Given the description of an element on the screen output the (x, y) to click on. 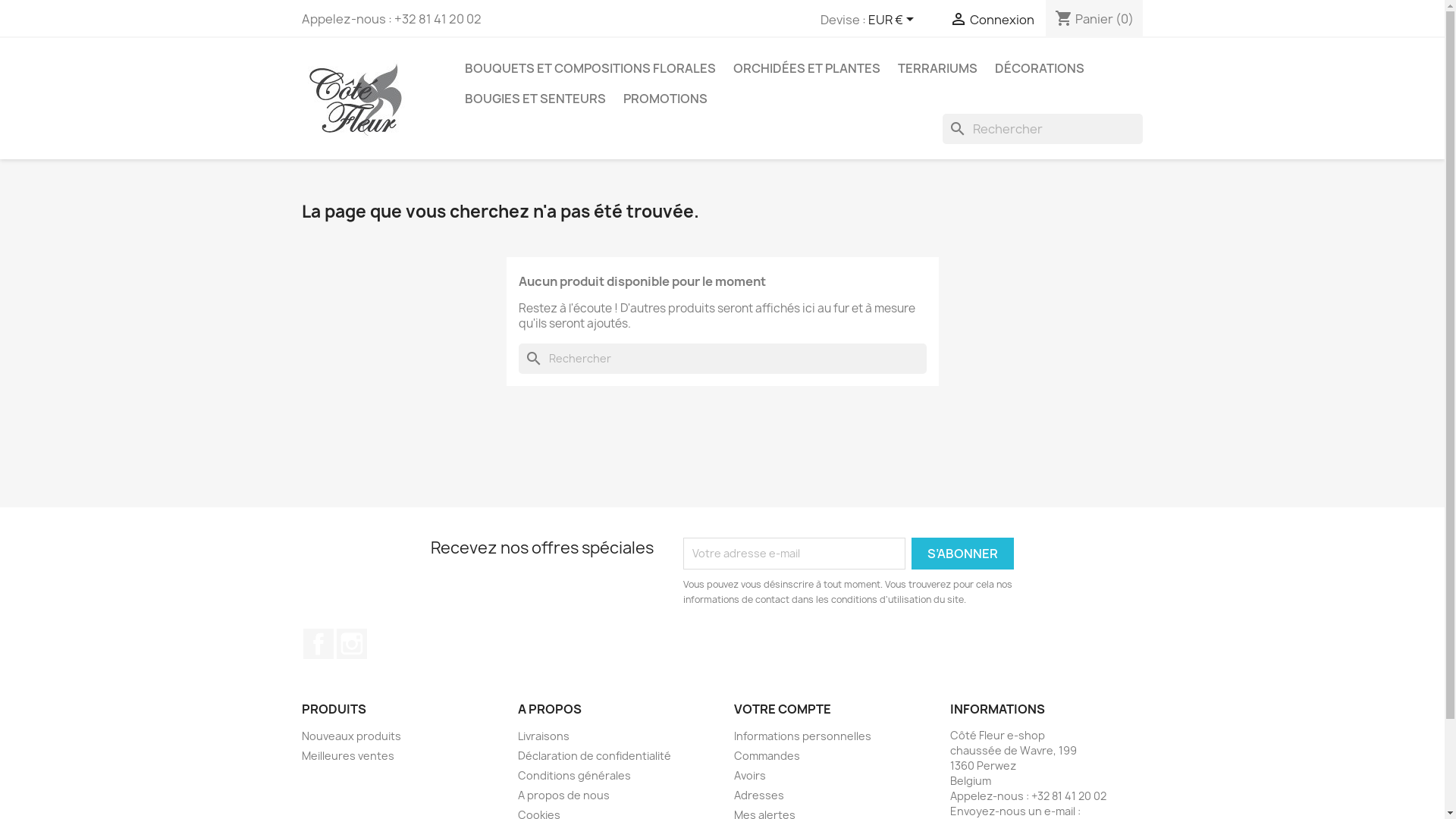
BOUQUETS ET COMPOSITIONS FLORALES Element type: text (589, 68)
Facebook Element type: text (318, 643)
Avoirs Element type: text (749, 775)
TERRARIUMS Element type: text (937, 68)
VOTRE COMPTE Element type: text (782, 708)
A propos de nous Element type: text (562, 794)
Instagram Element type: text (351, 643)
BOUGIES ET SENTEURS Element type: text (534, 98)
Meilleures ventes Element type: text (347, 755)
Livraisons Element type: text (542, 735)
PROMOTIONS Element type: text (665, 98)
Nouveaux produits Element type: text (351, 735)
Commandes Element type: text (767, 755)
Informations personnelles Element type: text (802, 735)
Adresses Element type: text (759, 794)
